Given the description of an element on the screen output the (x, y) to click on. 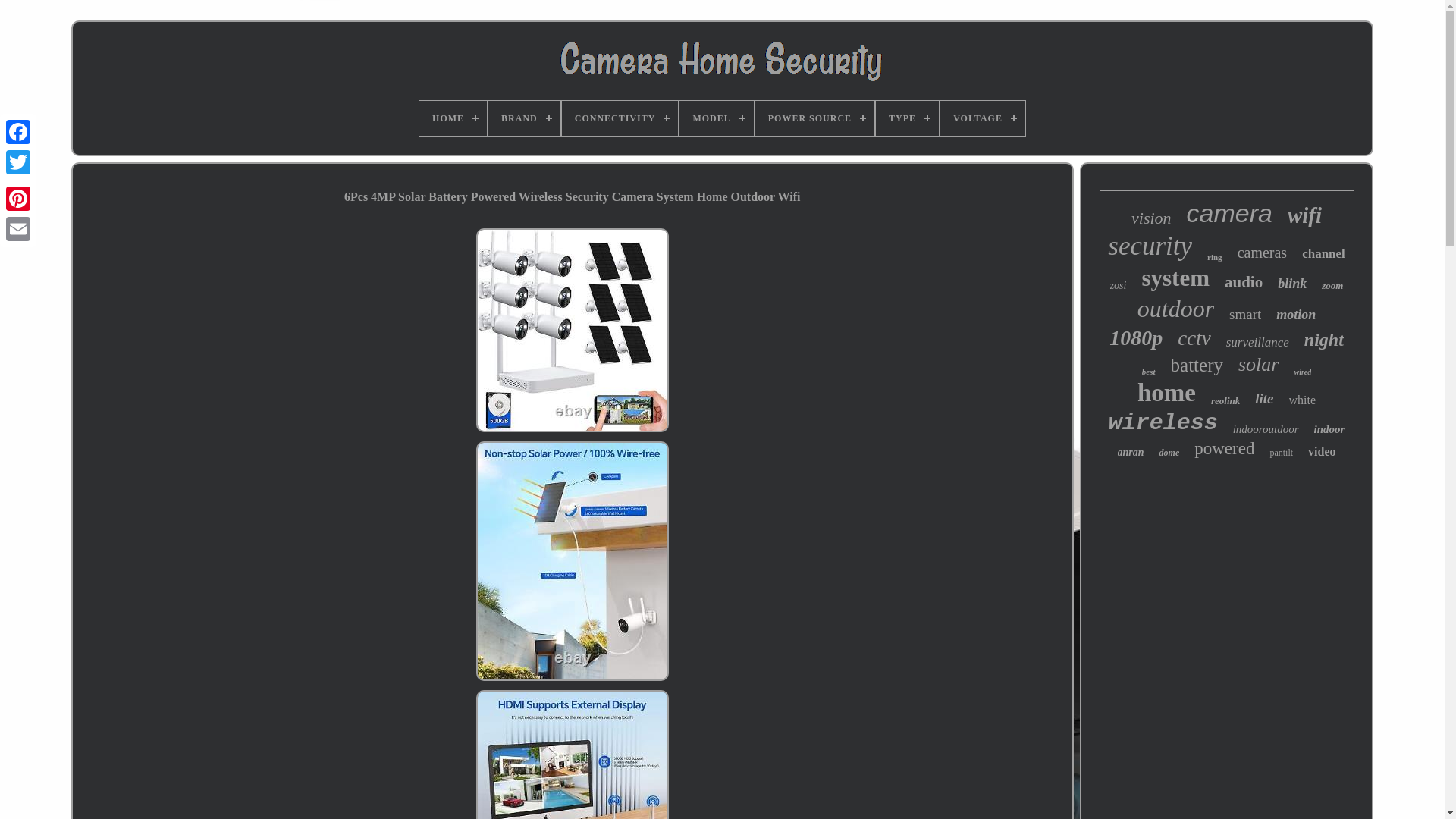
BRAND (523, 117)
HOME (452, 117)
CONNECTIVITY (620, 117)
